Given the description of an element on the screen output the (x, y) to click on. 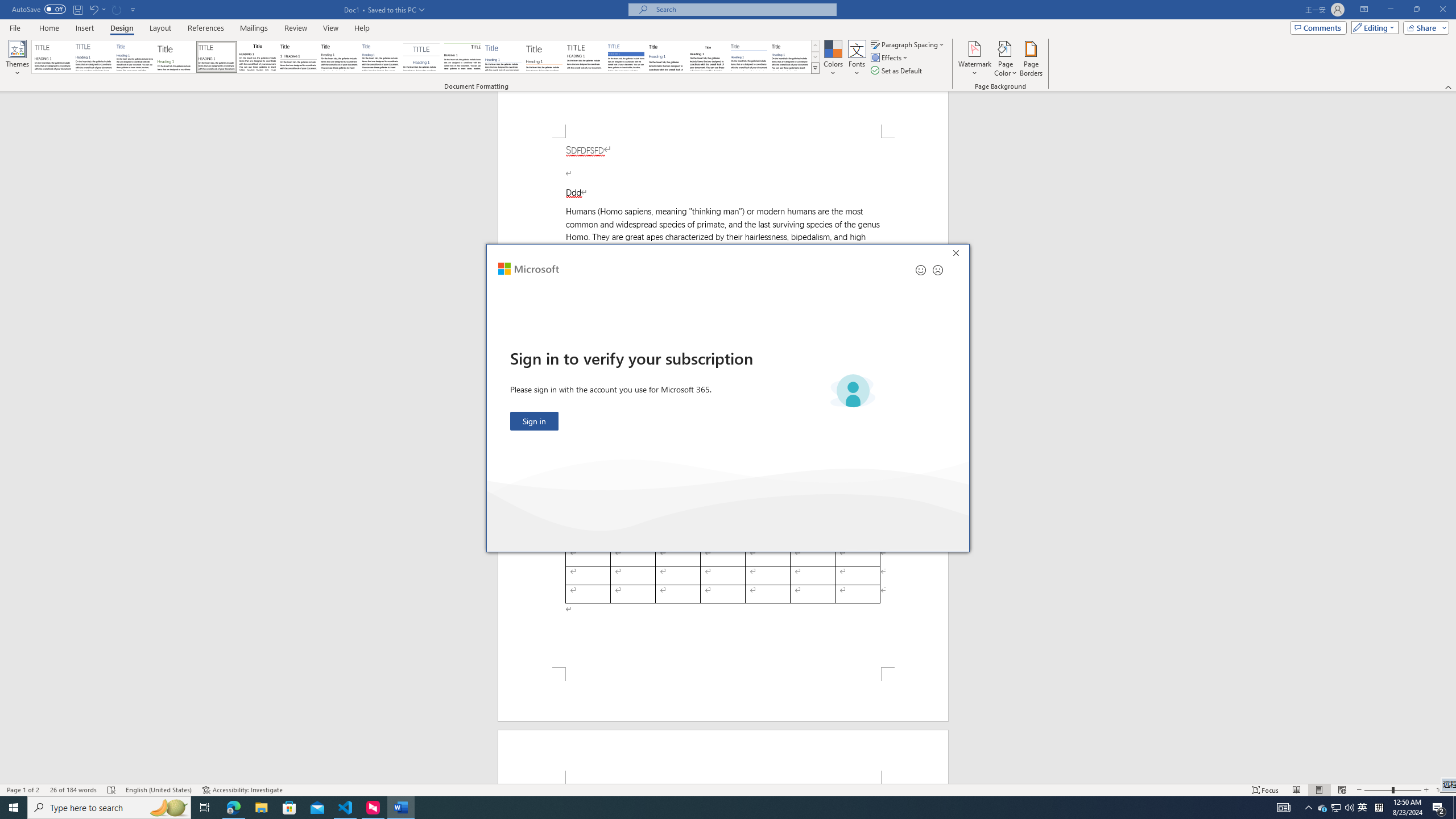
Basic (Elegant) (93, 56)
Visual Studio Code - 1 running window (345, 807)
Zoom 100% (1443, 790)
Tray Input Indicator - Chinese (Simplified, China) (1378, 807)
Watermark (974, 58)
Set as Default (897, 69)
Action Center, 2 new notifications (1439, 807)
Send a smile for feedback (920, 269)
